Given the description of an element on the screen output the (x, y) to click on. 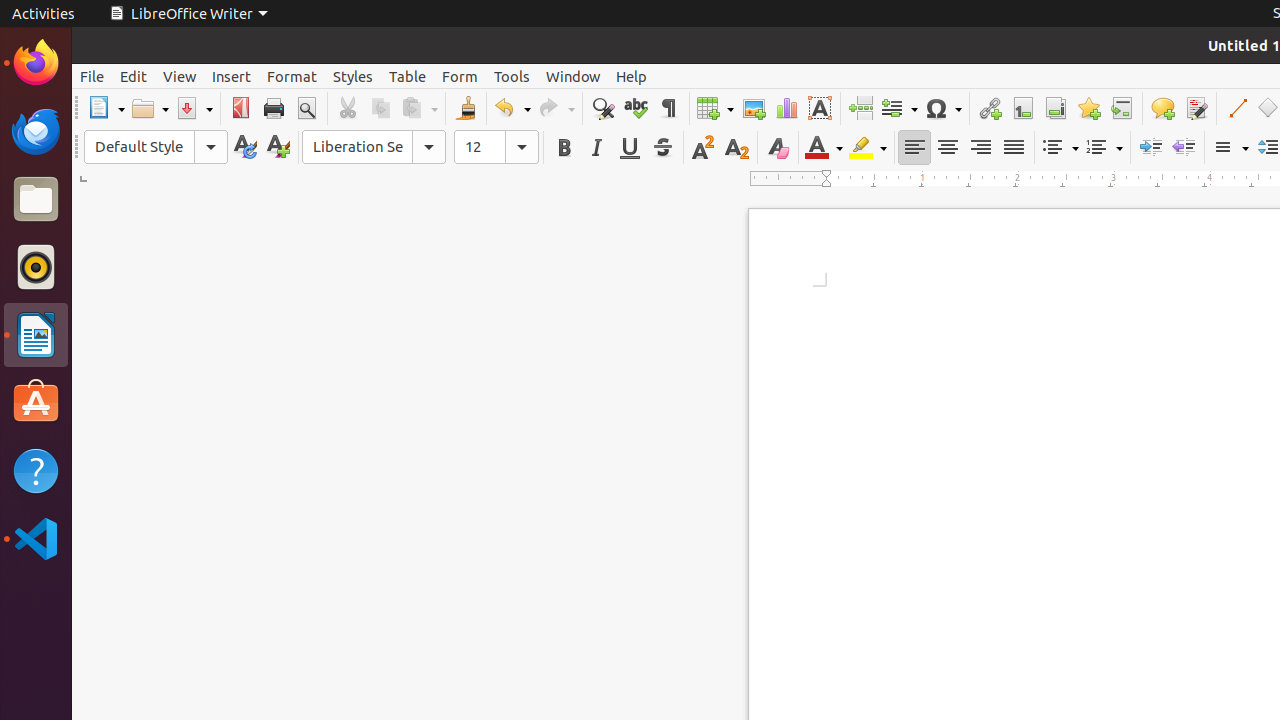
Center Element type: toggle-button (947, 147)
Save Element type: push-button (194, 108)
Visual Studio Code Element type: push-button (36, 538)
Formatting Marks Element type: toggle-button (668, 108)
Endnote Element type: push-button (1055, 108)
